Given the description of an element on the screen output the (x, y) to click on. 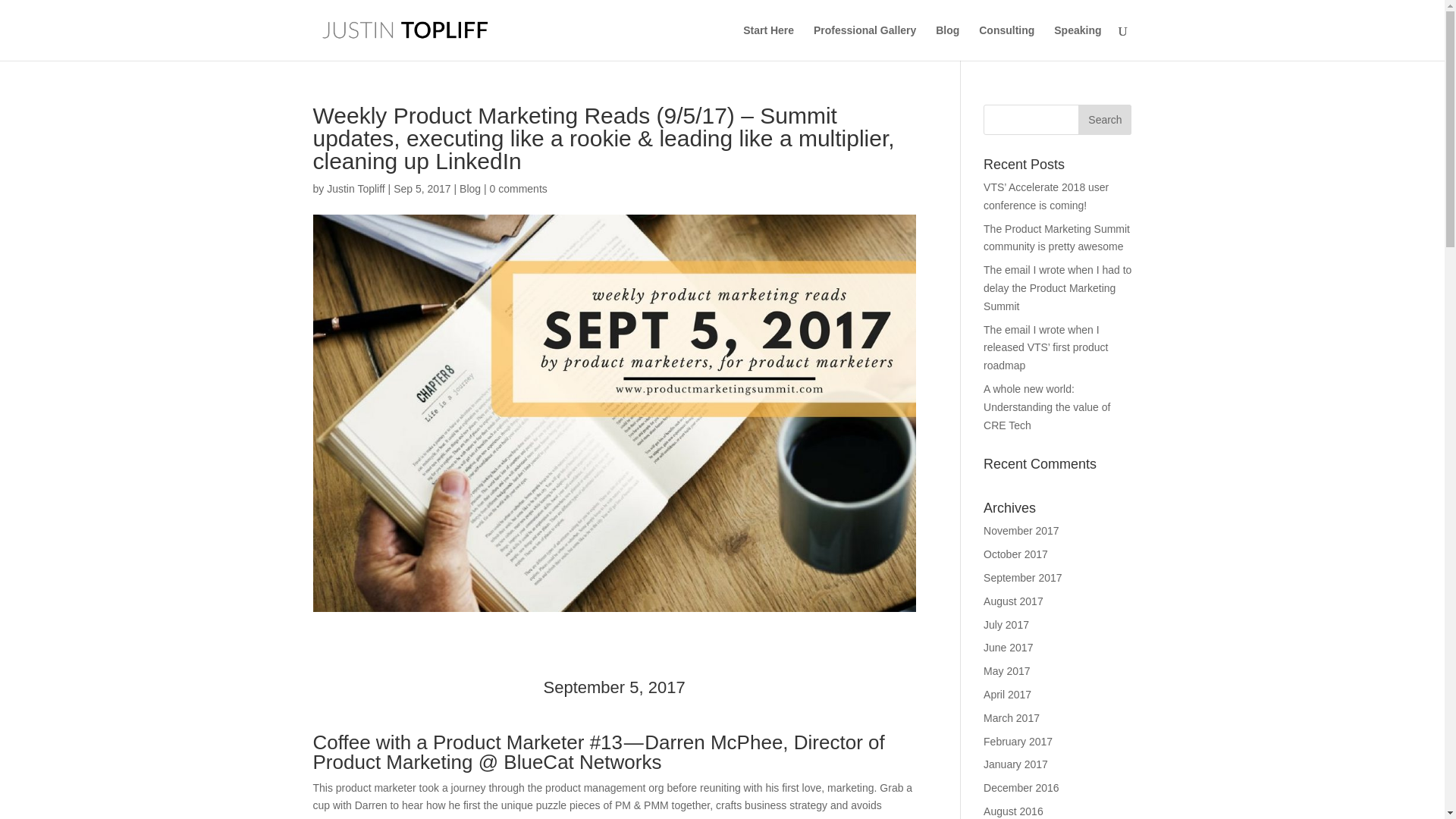
Consulting (1005, 42)
Blog (470, 188)
0 comments (518, 188)
July 2017 (1006, 624)
Search (1104, 119)
Start Here (767, 42)
Search (1104, 119)
October 2017 (1016, 553)
June 2017 (1008, 647)
The Product Marketing Summit community is pretty awesome (1056, 237)
April 2017 (1007, 694)
Speaking (1077, 42)
November 2017 (1021, 530)
August 2017 (1013, 601)
